Given the description of an element on the screen output the (x, y) to click on. 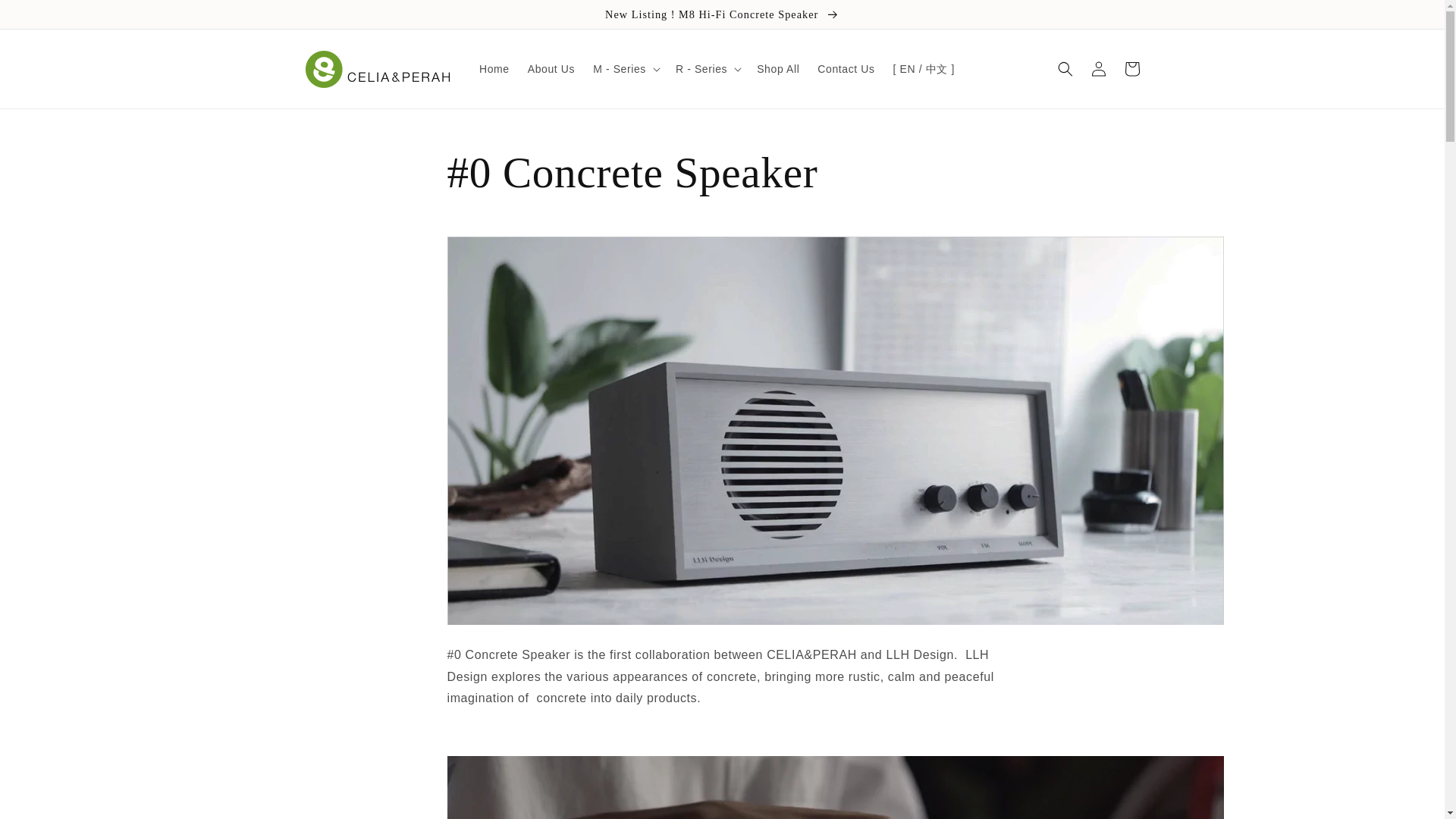
Home (494, 69)
Log in (1098, 68)
About Us (550, 69)
Shop All (778, 69)
Contact Us (845, 69)
Skip to content (45, 17)
Cart (1131, 68)
